Given the description of an element on the screen output the (x, y) to click on. 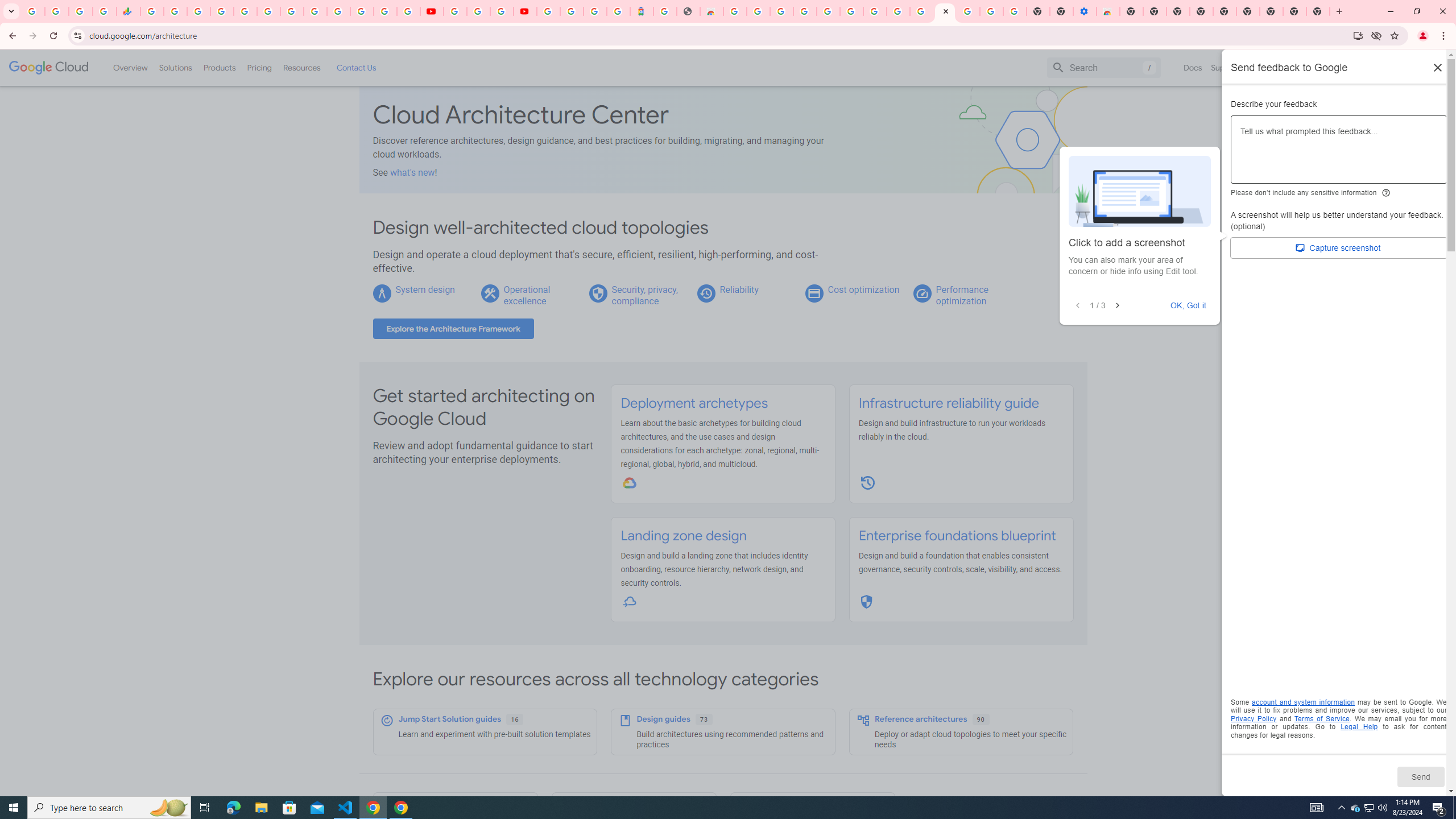
Infrastructure reliability guide (948, 402)
Reliability (738, 289)
Create your Google Account (501, 11)
Opens in a new tab. Legal Help (1358, 727)
Settings - Accessibility (1085, 11)
English (1288, 67)
Google Account Help (478, 11)
Google Account Help (850, 11)
Capture screenshot (1338, 247)
Android TV Policies and Guidelines - Transparency Center (291, 11)
